Given the description of an element on the screen output the (x, y) to click on. 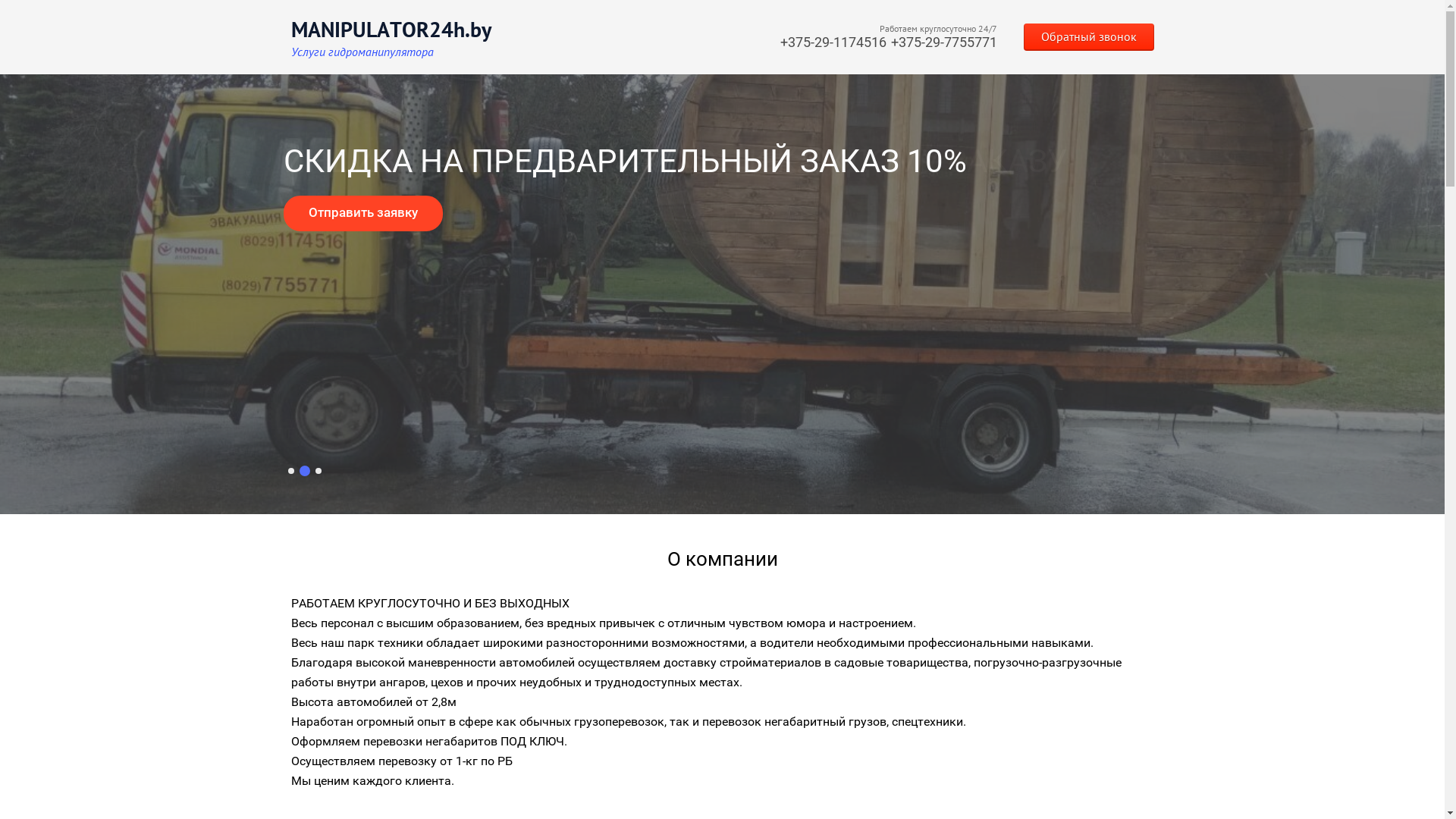
+375-29-7755771 Element type: text (943, 42)
+375-29-1174516 Element type: text (832, 42)
2 Element type: text (303, 470)
3 Element type: text (317, 470)
1 Element type: text (290, 470)
